Given the description of an element on the screen output the (x, y) to click on. 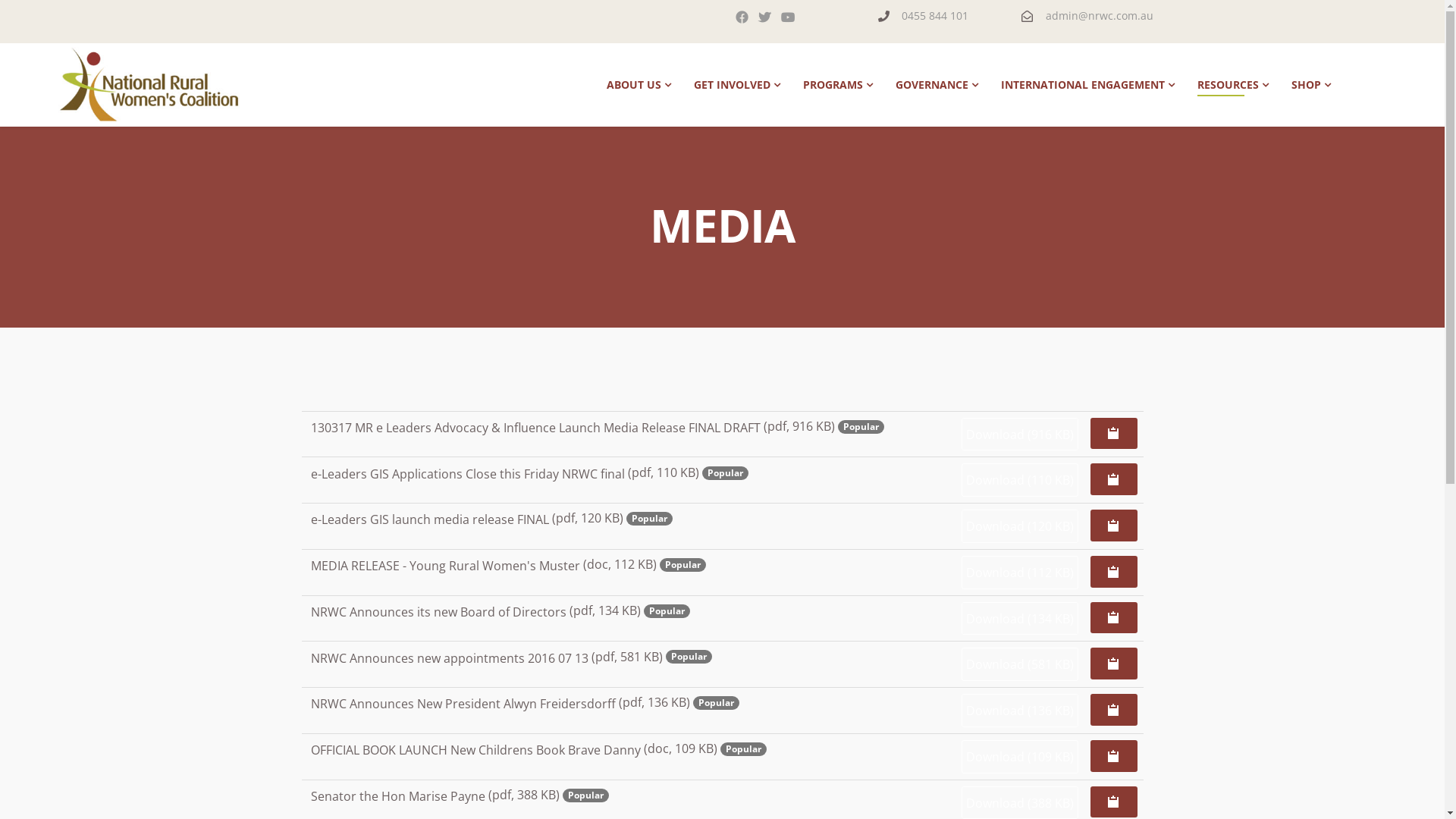
Download (120 KB) Element type: text (1019, 525)
admin@nrwc.com.au Element type: text (1099, 15)
Download (109 KB) Element type: text (1019, 756)
Download (916 KB) Element type: text (1019, 434)
Download (112 KB) Element type: text (1019, 572)
RESOURCES Element type: text (1233, 84)
PROGRAMS Element type: text (837, 84)
GET INVOLVED Element type: text (736, 84)
INTERNATIONAL ENGAGEMENT Element type: text (1087, 84)
Download (134 KB) Element type: text (1019, 618)
0455 844 101 Element type: text (934, 15)
Download (110 KB) Element type: text (1019, 479)
SHOP Element type: text (1311, 84)
Download (581 KB) Element type: text (1019, 663)
ABOUT US Element type: text (638, 84)
GOVERNANCE Element type: text (936, 84)
Download (136 KB) Element type: text (1019, 710)
